Given the description of an element on the screen output the (x, y) to click on. 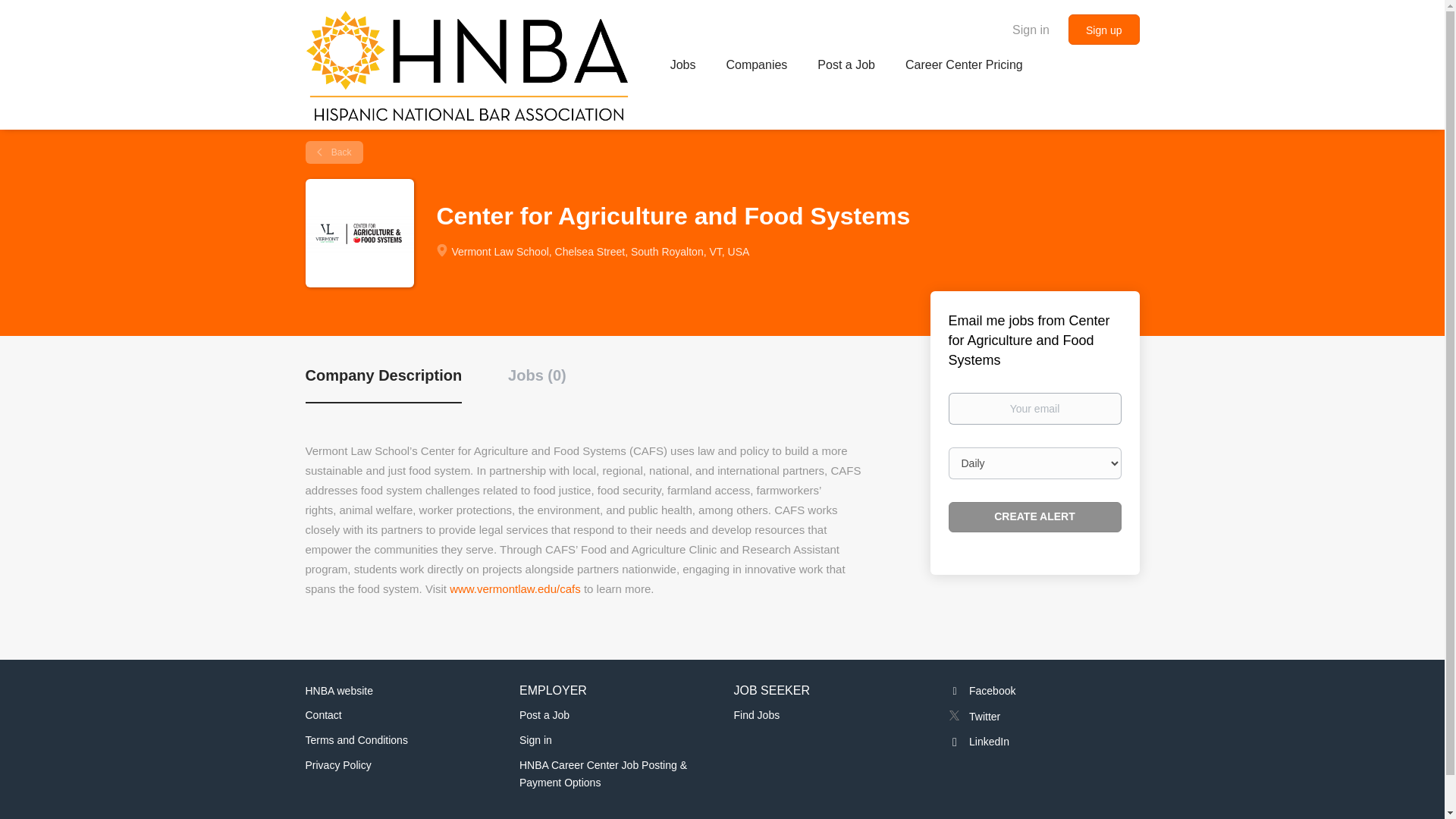
Company Description (382, 383)
HNBA website (338, 690)
Sign in (535, 739)
Terms and Conditions (355, 739)
Jobs (682, 66)
Twitter (973, 716)
Create alert (1034, 517)
Create alert (1034, 517)
Sign up (1103, 29)
Career Center Pricing (964, 66)
LinkedIn (978, 741)
Facebook (980, 690)
Find Jobs (756, 715)
Back (333, 151)
Privacy Policy (337, 765)
